Given the description of an element on the screen output the (x, y) to click on. 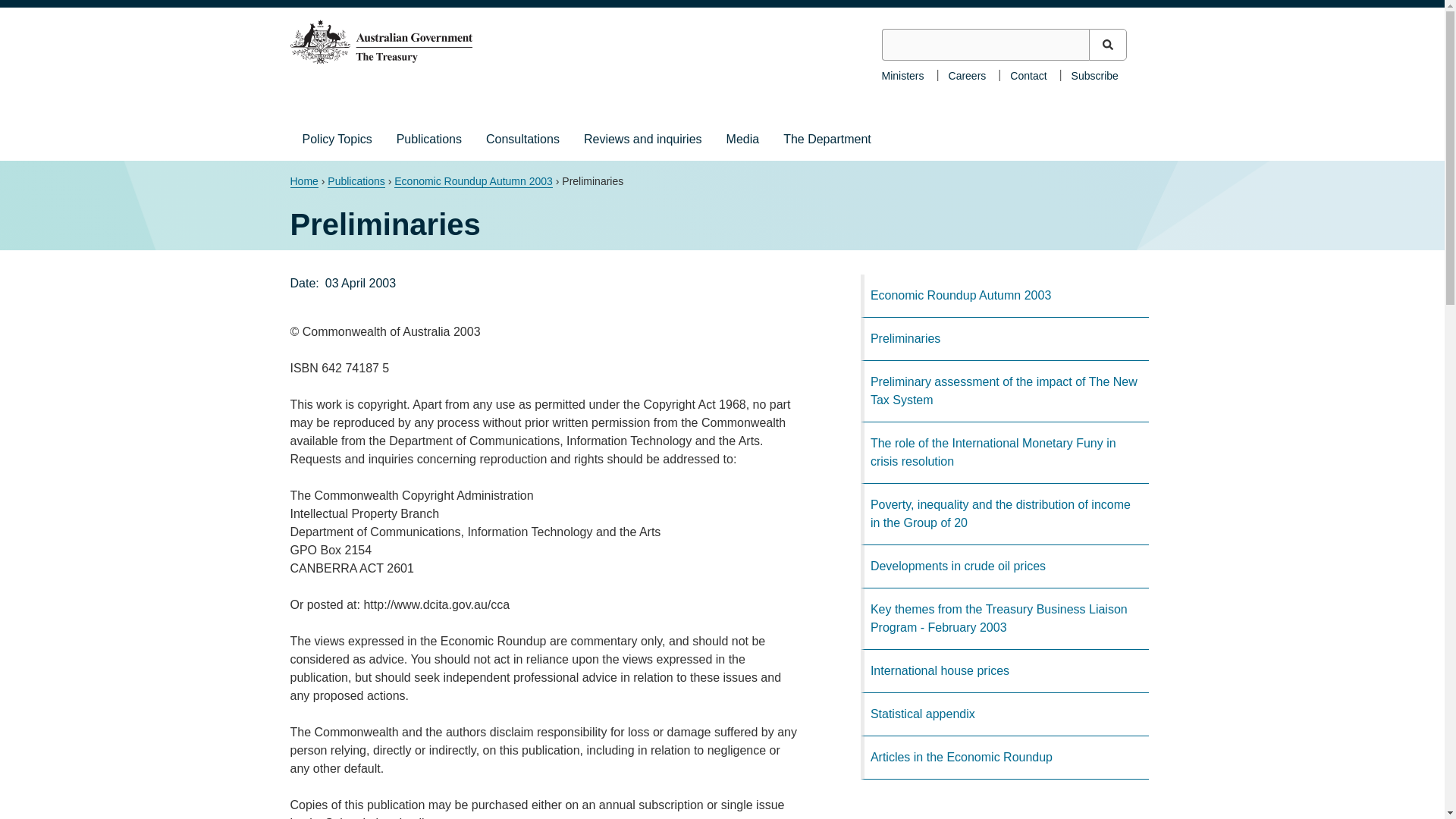
Statistical appendix (1004, 714)
Apply (1107, 44)
Subscribe (1094, 74)
Contact (1028, 74)
Economic Roundup Autumn 2003 (1004, 295)
Preliminary assessment of the impact of The New Tax System (1004, 391)
Careers (968, 74)
Policy Topics (336, 138)
Home (303, 181)
Publications (429, 138)
Preliminaries (1004, 339)
Developments in crude oil prices (1004, 566)
Ministers (901, 74)
